Given the description of an element on the screen output the (x, y) to click on. 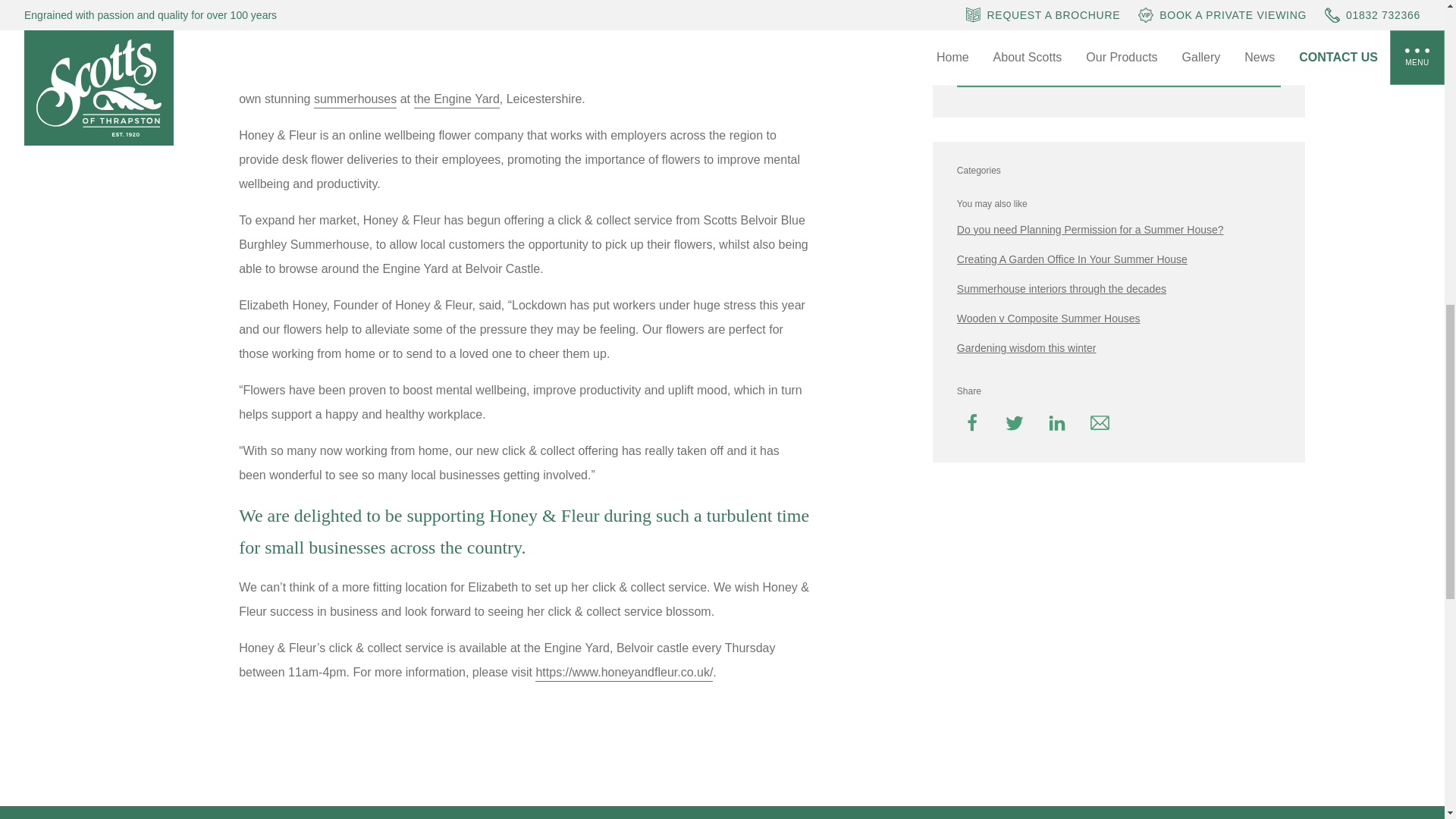
the Engine Yard (456, 98)
Share by Email (1099, 422)
Share on Twitter (1013, 422)
Share on Facebook (971, 422)
Do you need Planning Permission for a Summer House? (1118, 229)
Equestrian Buildings (1118, 16)
Timber Garages and Outbuildings (1118, 65)
Creating A Garden Office In Your Summer House (1118, 259)
summerhouses (355, 98)
Gardening wisdom this winter (1118, 348)
Share on LinkedIn (1056, 422)
Summerhouse interiors through the decades (1118, 289)
Wooden v Composite Summer Houses (1118, 318)
